Given the description of an element on the screen output the (x, y) to click on. 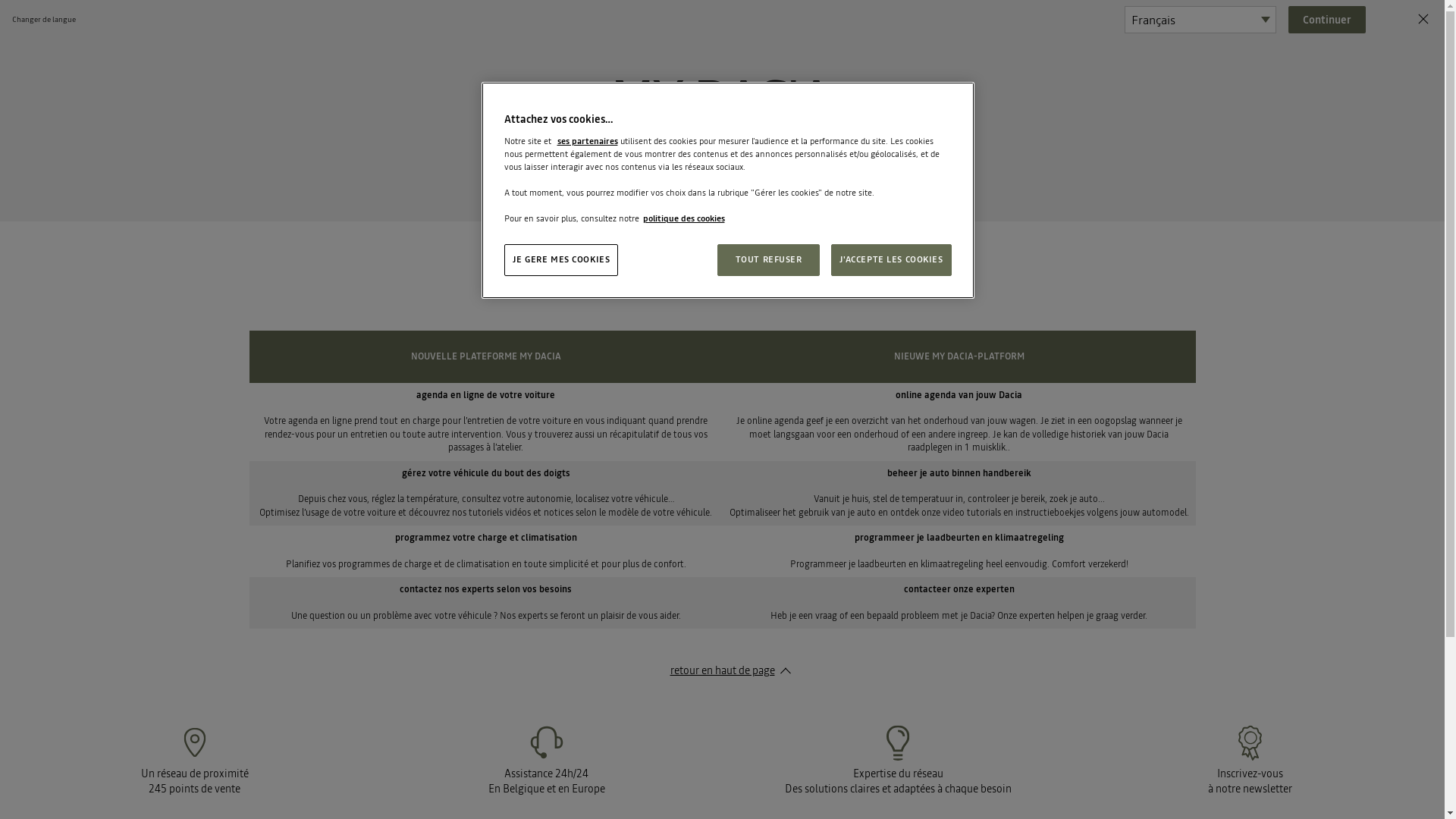
TOUT REFUSER Element type: text (768, 260)
ses partenaires Element type: text (586, 140)
J'ACCEPTE LES COOKIES Element type: text (891, 260)
politique des cookies Element type: text (683, 218)
retour en haut de page Element type: text (722, 669)
JE GERE MES COOKIES Element type: text (560, 260)
ZICH AANMELDEN BIJ MY DACIA Element type: text (821, 263)
Continuer Element type: text (1326, 19)
Assistance 24h/24
En Belgique et en Europe Element type: text (546, 760)
